Given the description of an element on the screen output the (x, y) to click on. 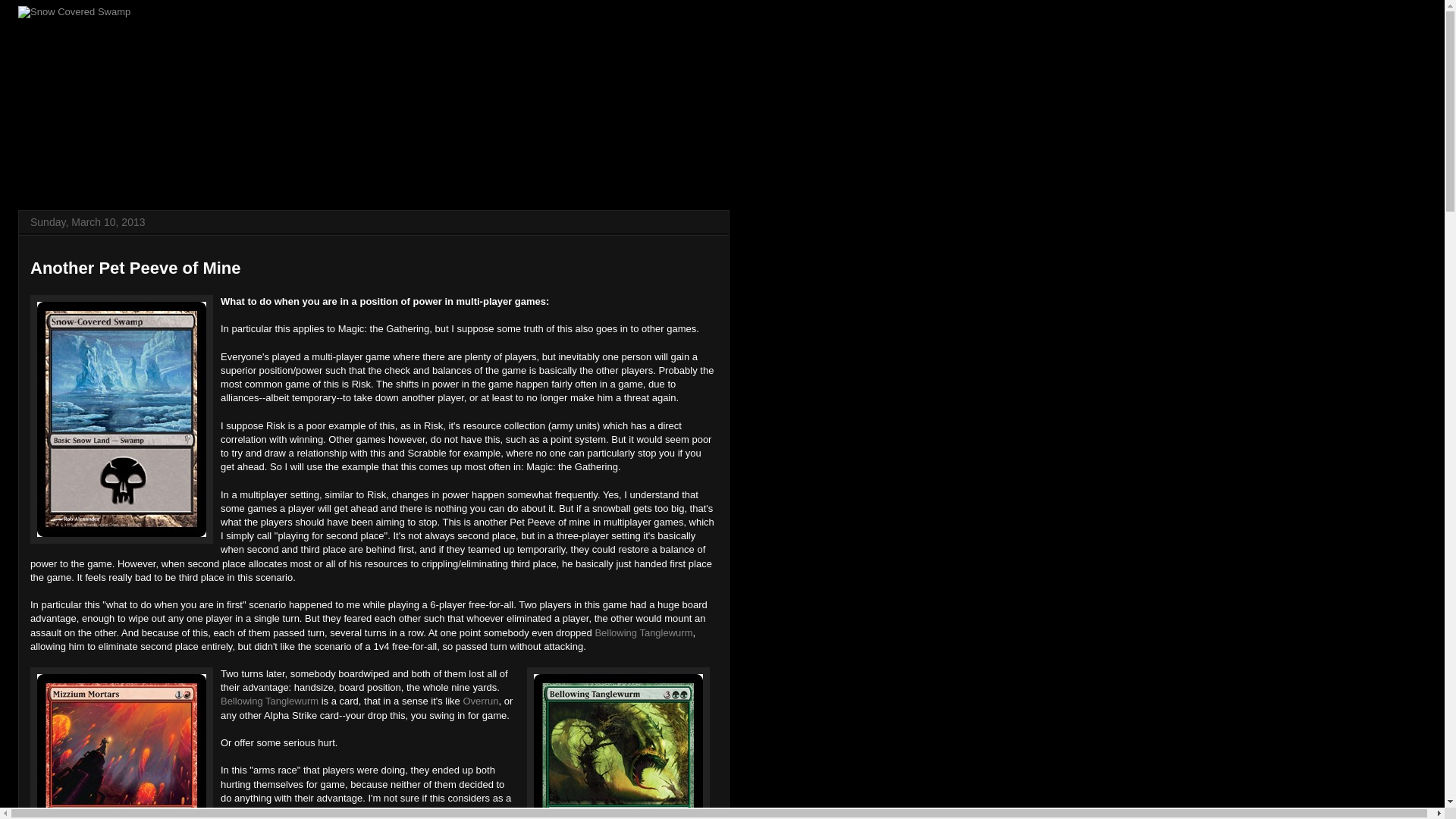
Bellowing Tanglewurm (643, 632)
Overrun (480, 700)
Bellowing Tanglewurm (269, 700)
